Given the description of an element on the screen output the (x, y) to click on. 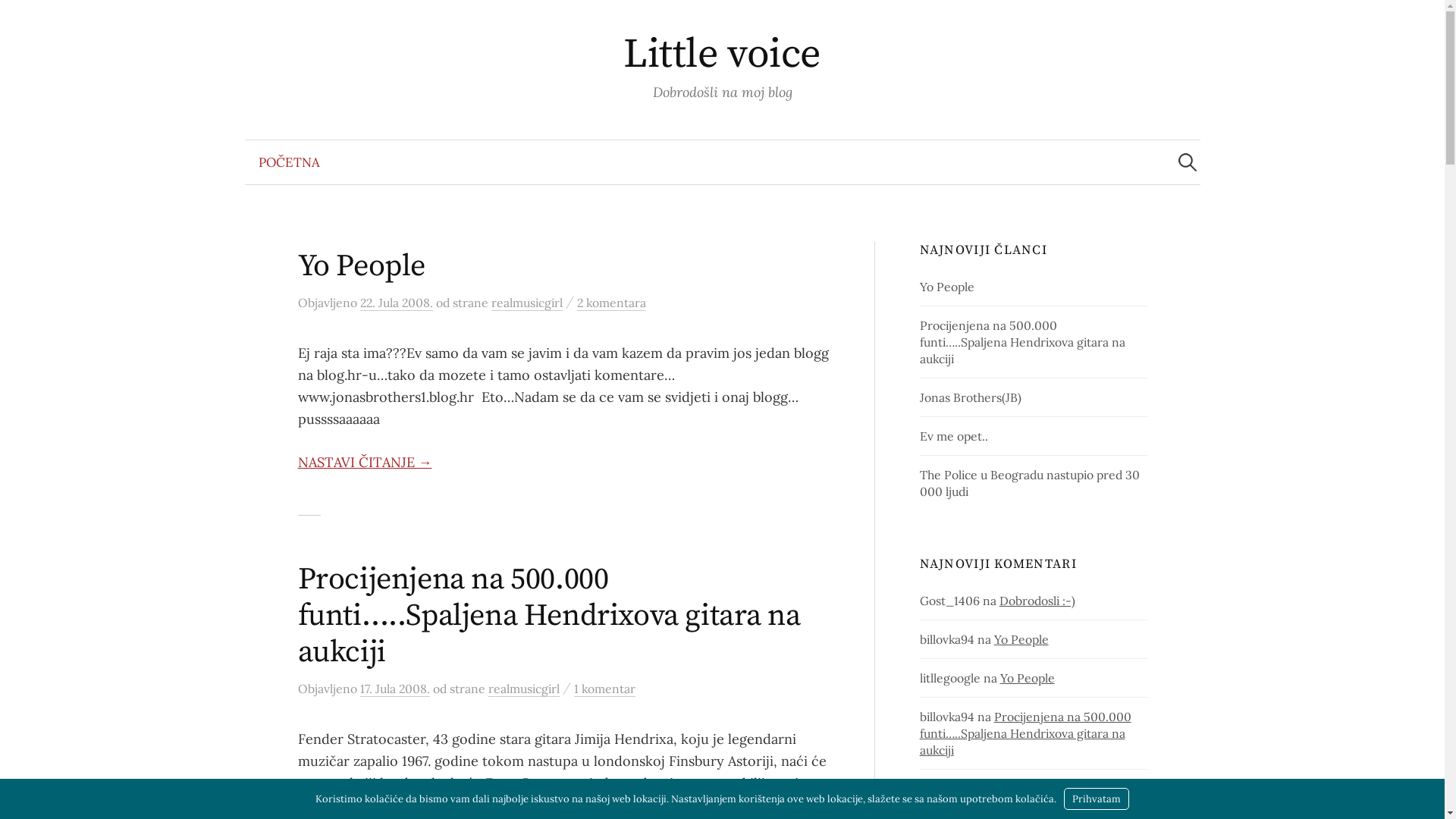
realmusicgirl Element type: text (526, 302)
realmusicgirl Element type: text (523, 688)
Yo People Element type: text (1021, 638)
Jonas Brothers(JB) Element type: text (1073, 788)
Jonas Brothers(JB) Element type: text (970, 396)
Ev me opet.. Element type: text (953, 435)
2 komentara
za Yo People Element type: text (610, 302)
Yo People Element type: text (946, 286)
Pretraga Element type: text (18, 18)
Prihvatam Element type: text (1096, 798)
Yo People Element type: text (1027, 677)
Little voice Element type: text (722, 54)
22. Jula 2008. Element type: text (395, 302)
17. Jula 2008. Element type: text (394, 688)
The Police u Beogradu nastupio pred 30 000 ljudi Element type: text (1029, 482)
Yo People Element type: text (360, 266)
Dobrodosli :-) Element type: text (1037, 600)
